Given the description of an element on the screen output the (x, y) to click on. 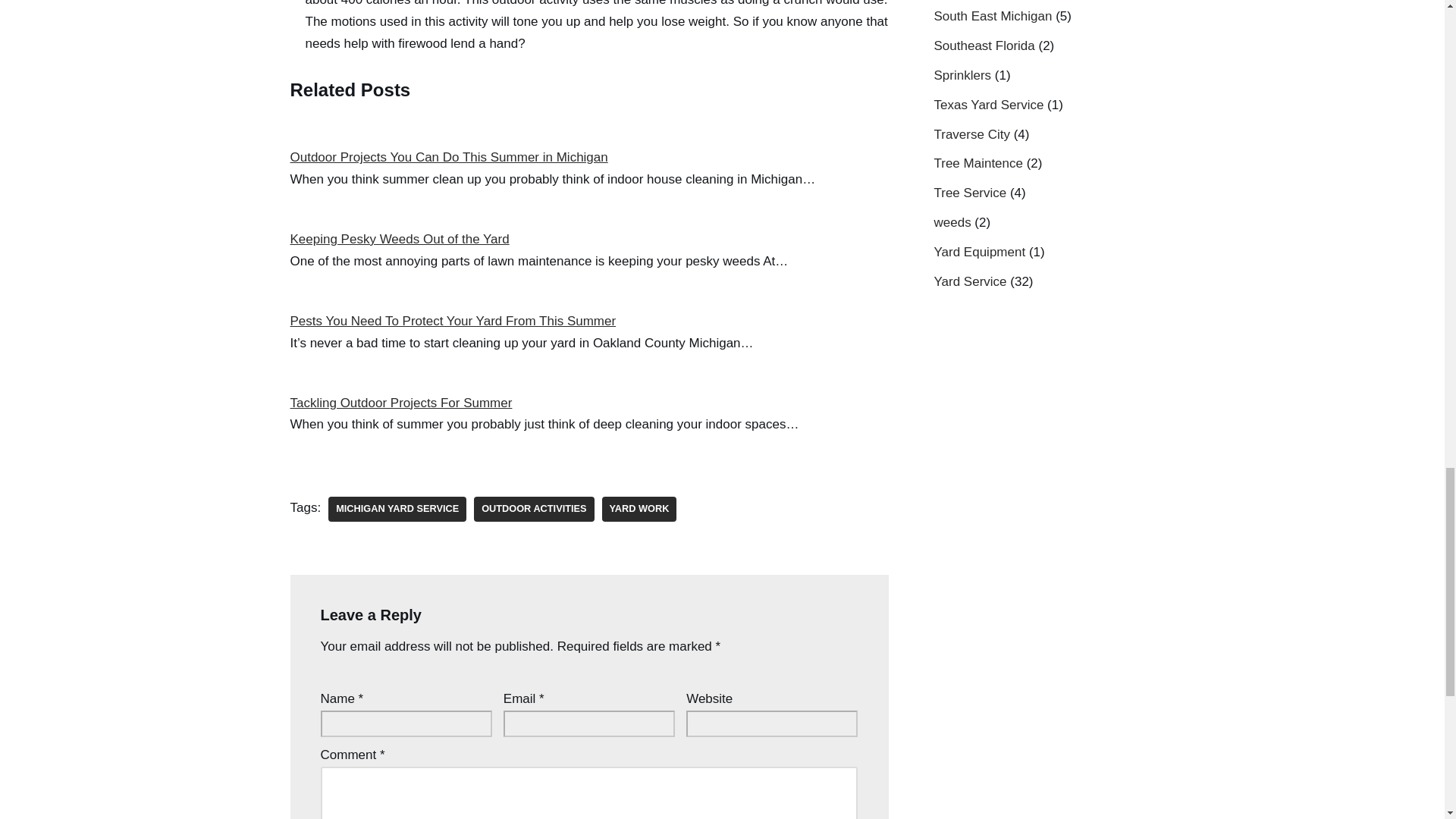
outdoor activities (534, 508)
yard work (639, 508)
michigan yard service (397, 508)
